Given the description of an element on the screen output the (x, y) to click on. 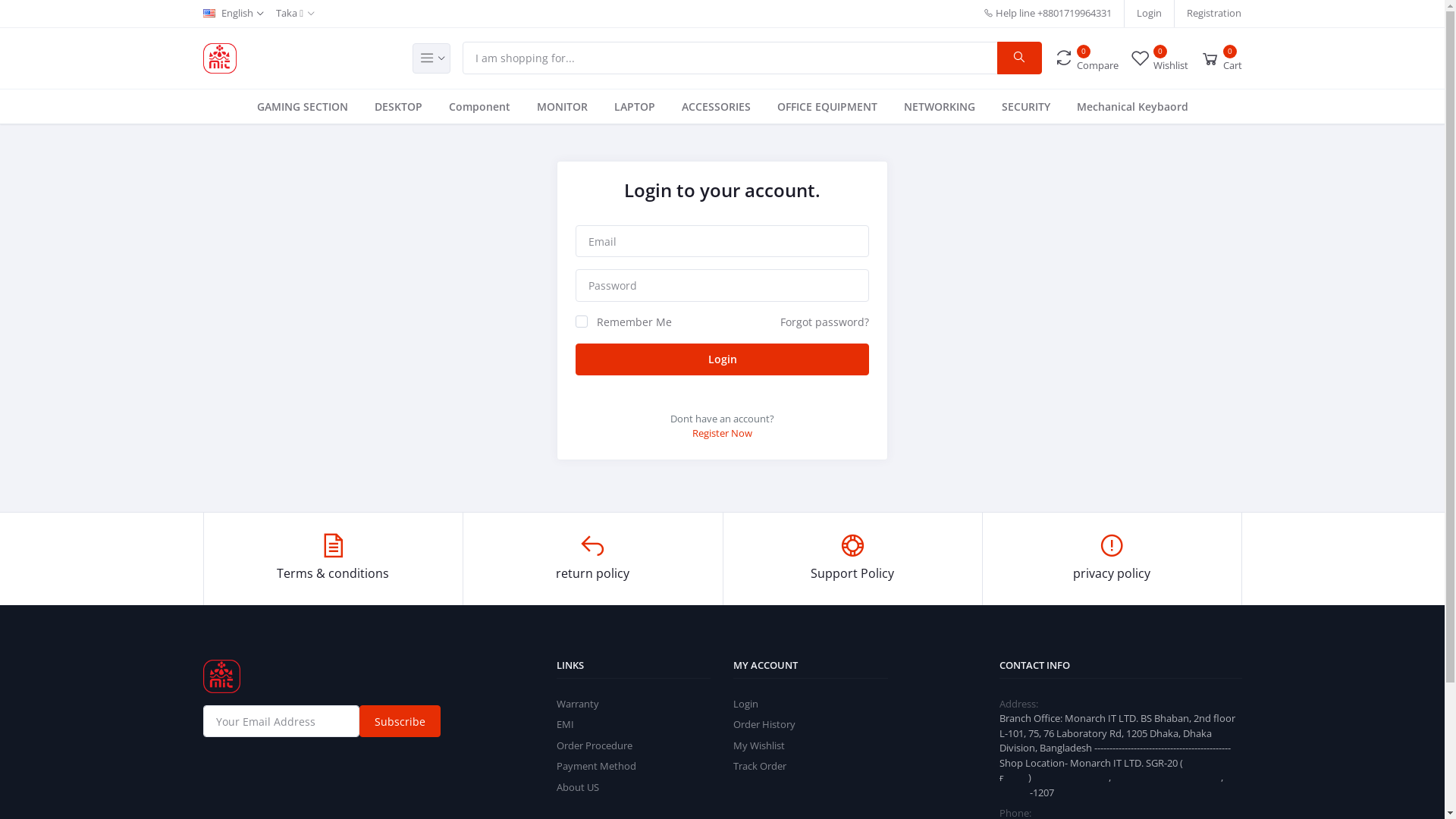
ACCESSORIES Element type: text (715, 106)
Order History Element type: text (764, 724)
0
Compare Element type: text (1086, 57)
DESKTOP Element type: text (398, 106)
Forgot password? Element type: text (824, 321)
Warranty Element type: text (577, 703)
Login Element type: text (1148, 13)
0
Wishlist Element type: text (1158, 57)
Subscribe Element type: text (399, 721)
Order Procedure Element type: text (594, 745)
Registration Element type: text (1213, 13)
Register Now Element type: text (722, 432)
Component Element type: text (479, 106)
About US Element type: text (577, 786)
privacy policy Element type: text (1112, 558)
Login Element type: text (745, 703)
MONITOR Element type: text (561, 106)
Terms & conditions Element type: text (333, 558)
NETWORKING Element type: text (939, 106)
Login Element type: text (722, 359)
0
Cart Element type: text (1220, 57)
Mechanical Keybaord Element type: text (1132, 106)
OFFICE EQUIPMENT Element type: text (826, 106)
Help line +8801719964331 Element type: text (1047, 13)
LAPTOP Element type: text (634, 106)
EMI Element type: text (565, 724)
English Element type: text (233, 13)
Payment Method Element type: text (596, 765)
return policy Element type: text (592, 558)
My Wishlist Element type: text (758, 745)
Support Policy Element type: text (851, 558)
GAMING SECTION Element type: text (301, 106)
Track Order Element type: text (759, 765)
SECURITY Element type: text (1024, 106)
